Given the description of an element on the screen output the (x, y) to click on. 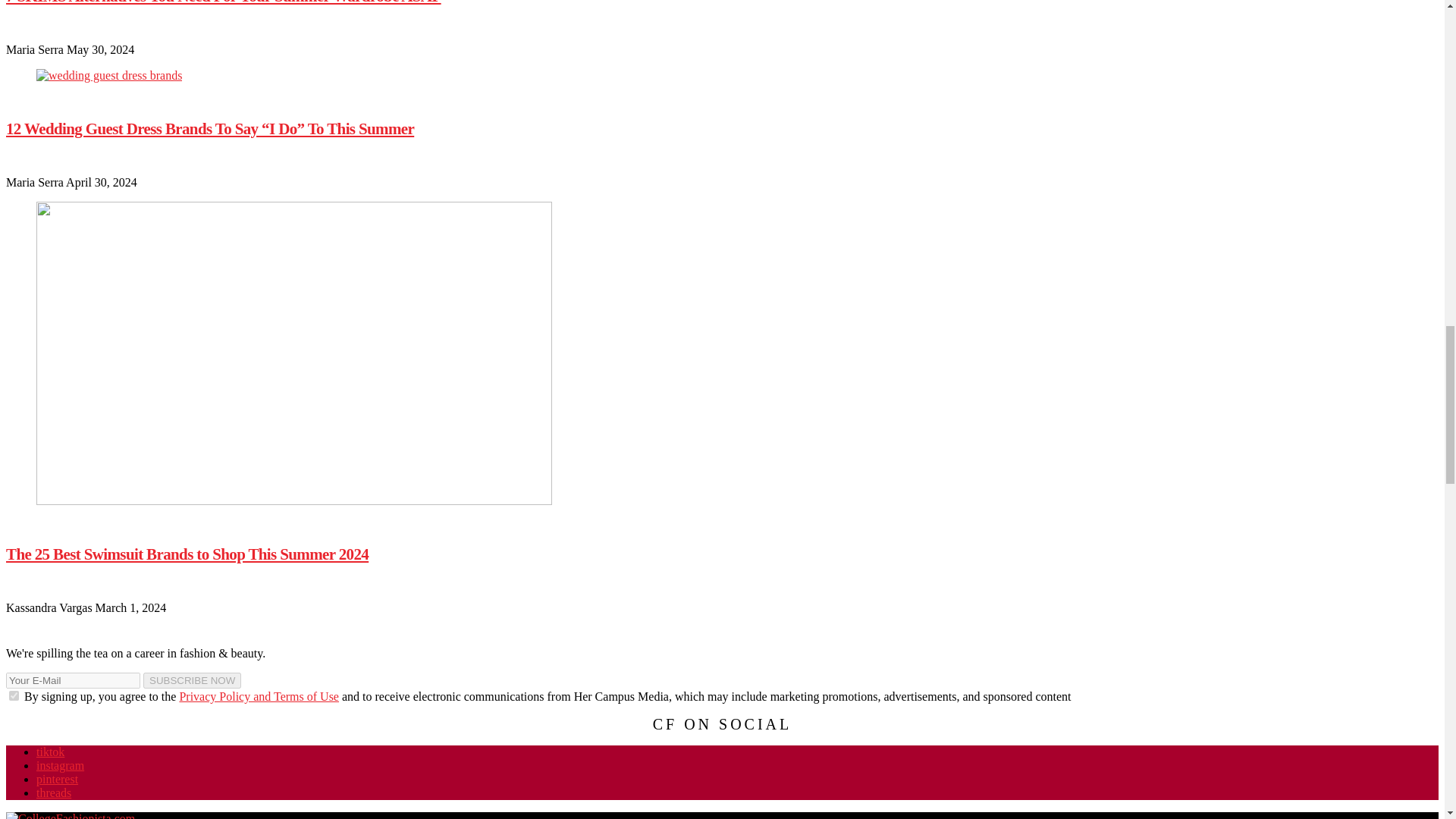
on (13, 696)
